Given the description of an element on the screen output the (x, y) to click on. 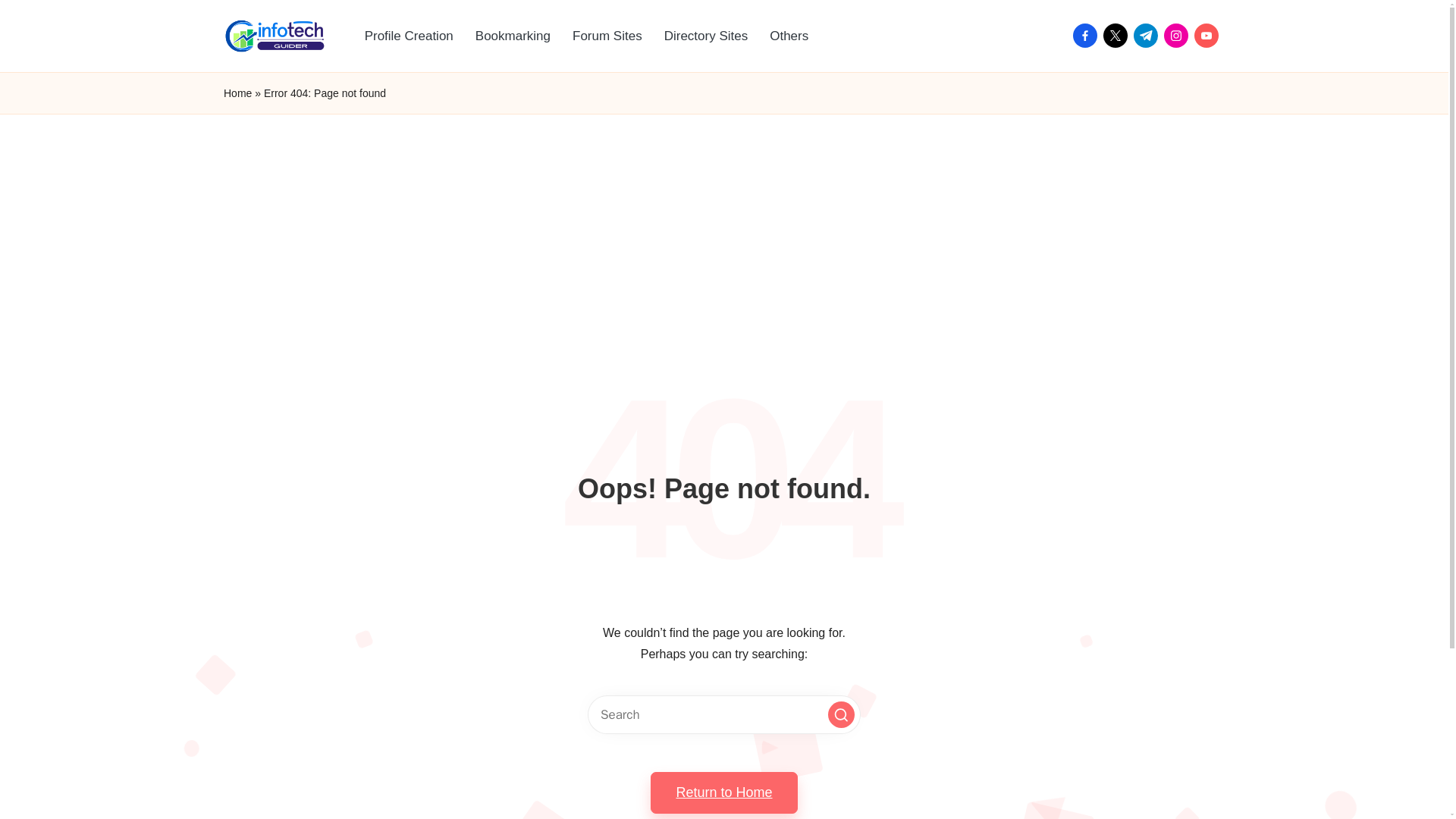
Forum Sites (607, 36)
Return to Home (723, 792)
t.me (1148, 35)
Others (788, 36)
youtube.com (1208, 35)
instagram.com (1178, 35)
Bookmarking (512, 36)
facebook.com (1088, 35)
twitter.com (1118, 35)
